Given the description of an element on the screen output the (x, y) to click on. 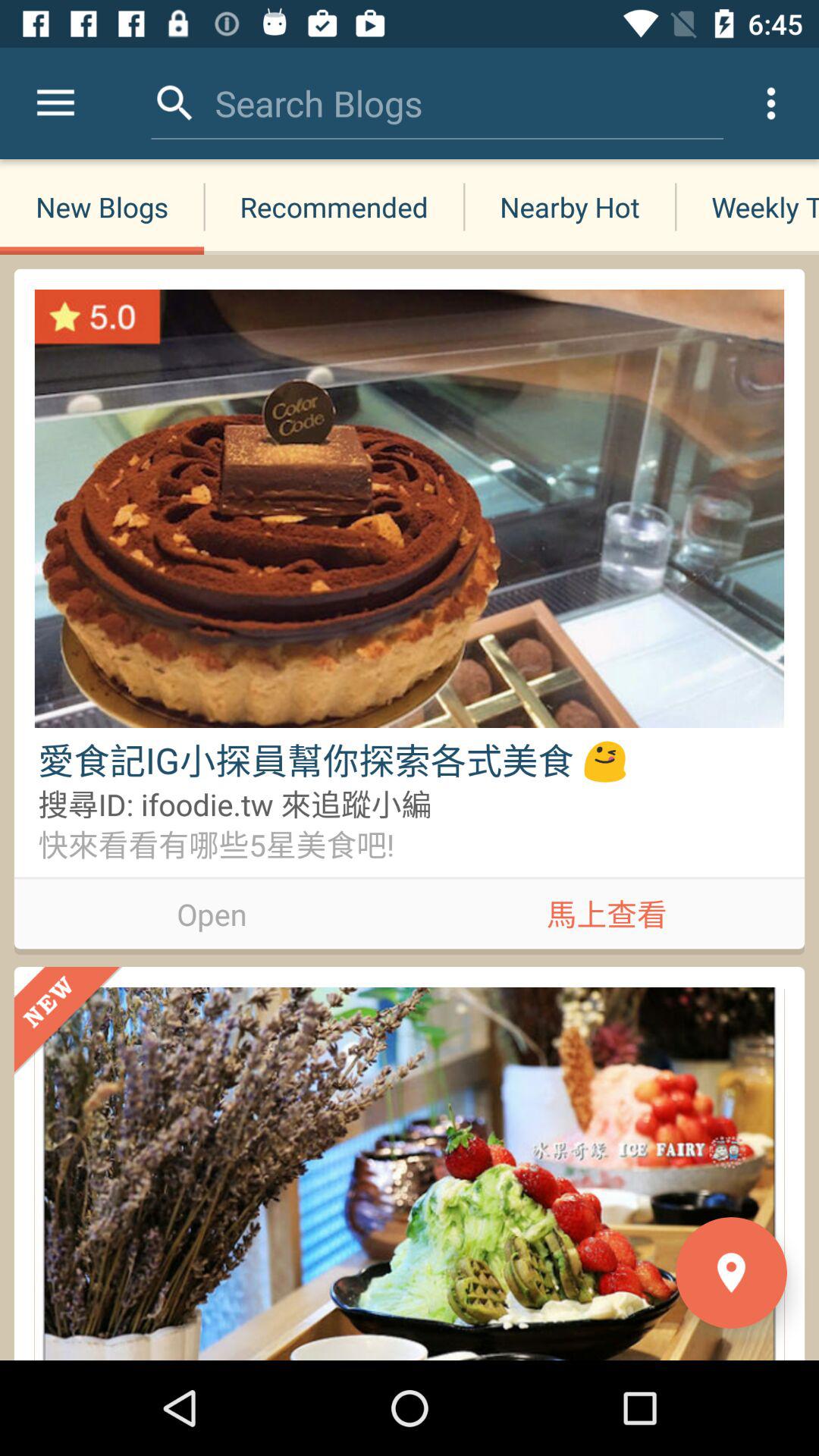
select the nearby hot (569, 206)
